Given the description of an element on the screen output the (x, y) to click on. 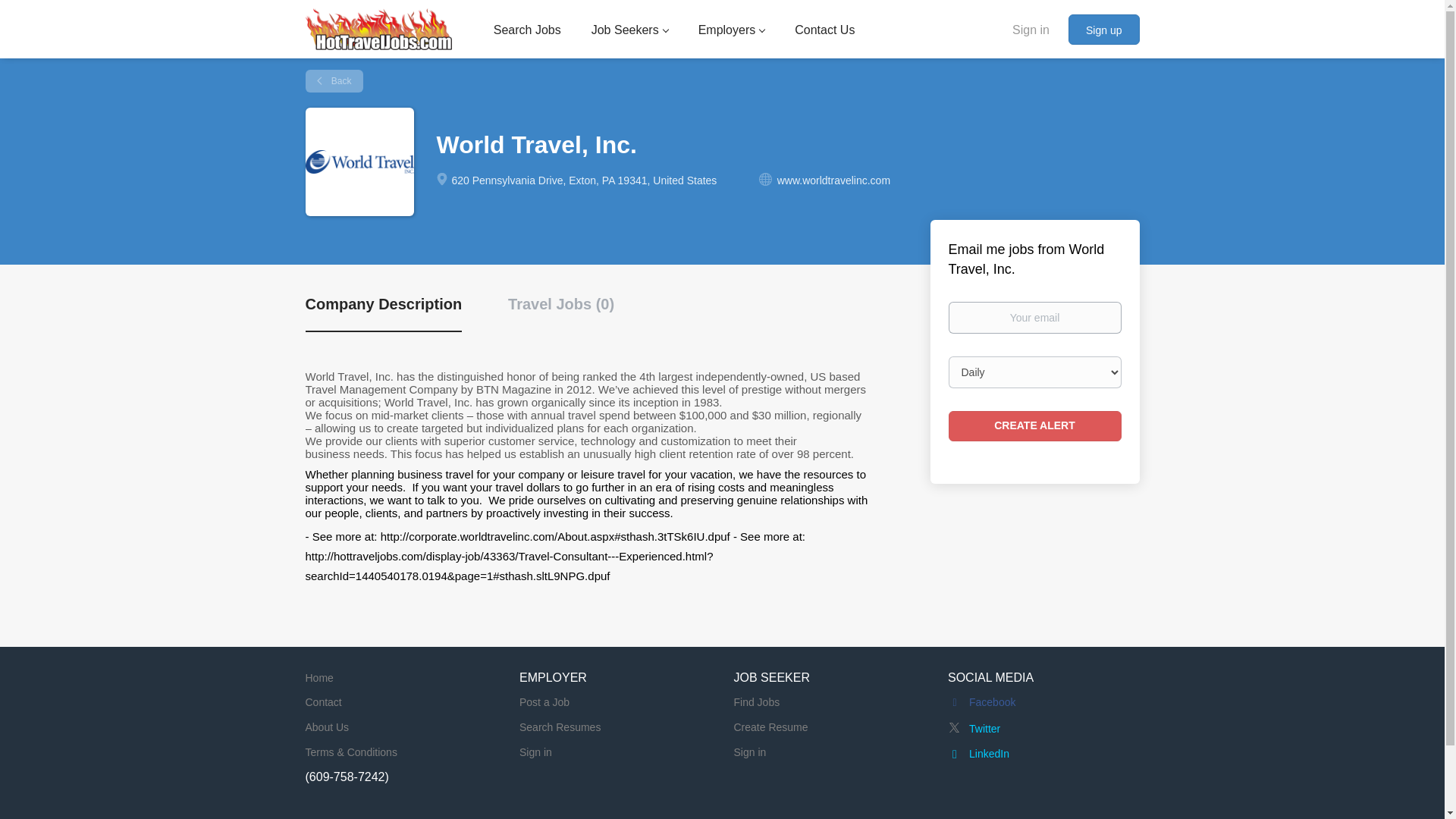
Contact (322, 702)
Job Seekers (629, 32)
Home (318, 677)
Create alert (1034, 426)
Search Jobs (526, 32)
www.worldtravelinc.com (833, 180)
Sign in (1031, 28)
Create alert (1034, 426)
Contact Us (824, 32)
About Us (326, 727)
Back (333, 80)
Sign up (1103, 29)
Employers (731, 32)
Company Description (382, 312)
